Given the description of an element on the screen output the (x, y) to click on. 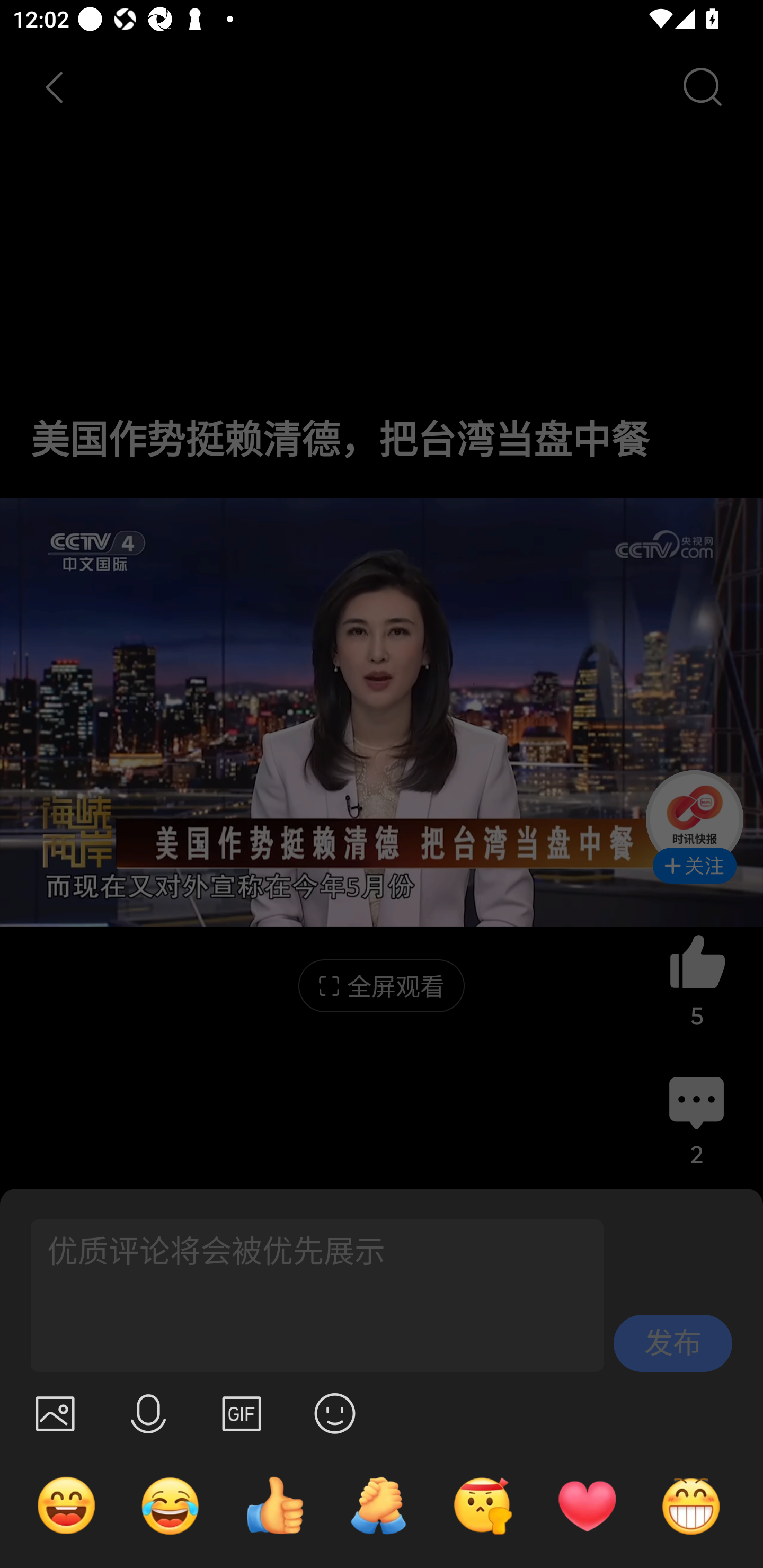
优质评论将会被优先展示 (308, 1295)
发布 (672, 1343)
 (54, 1413)
 (148, 1413)
 (241, 1413)
 (334, 1413)
哈哈 (66, 1505)
哭笑 (170, 1505)
点赞 (274, 1505)
加油 (378, 1505)
奋斗 (482, 1505)
心 (586, 1505)
呲牙 (690, 1505)
